Given the description of an element on the screen output the (x, y) to click on. 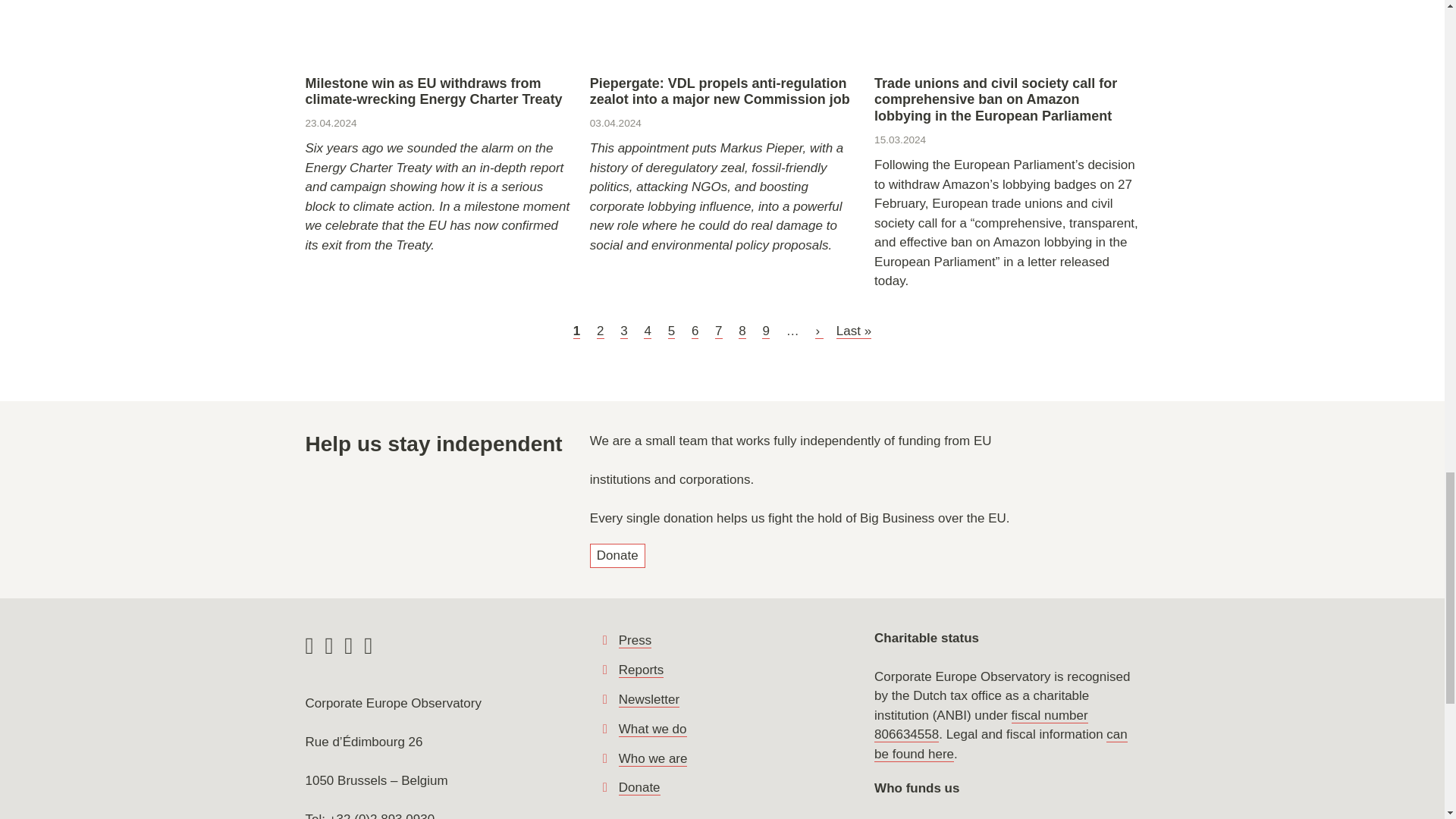
Go to last page (852, 331)
